Given the description of an element on the screen output the (x, y) to click on. 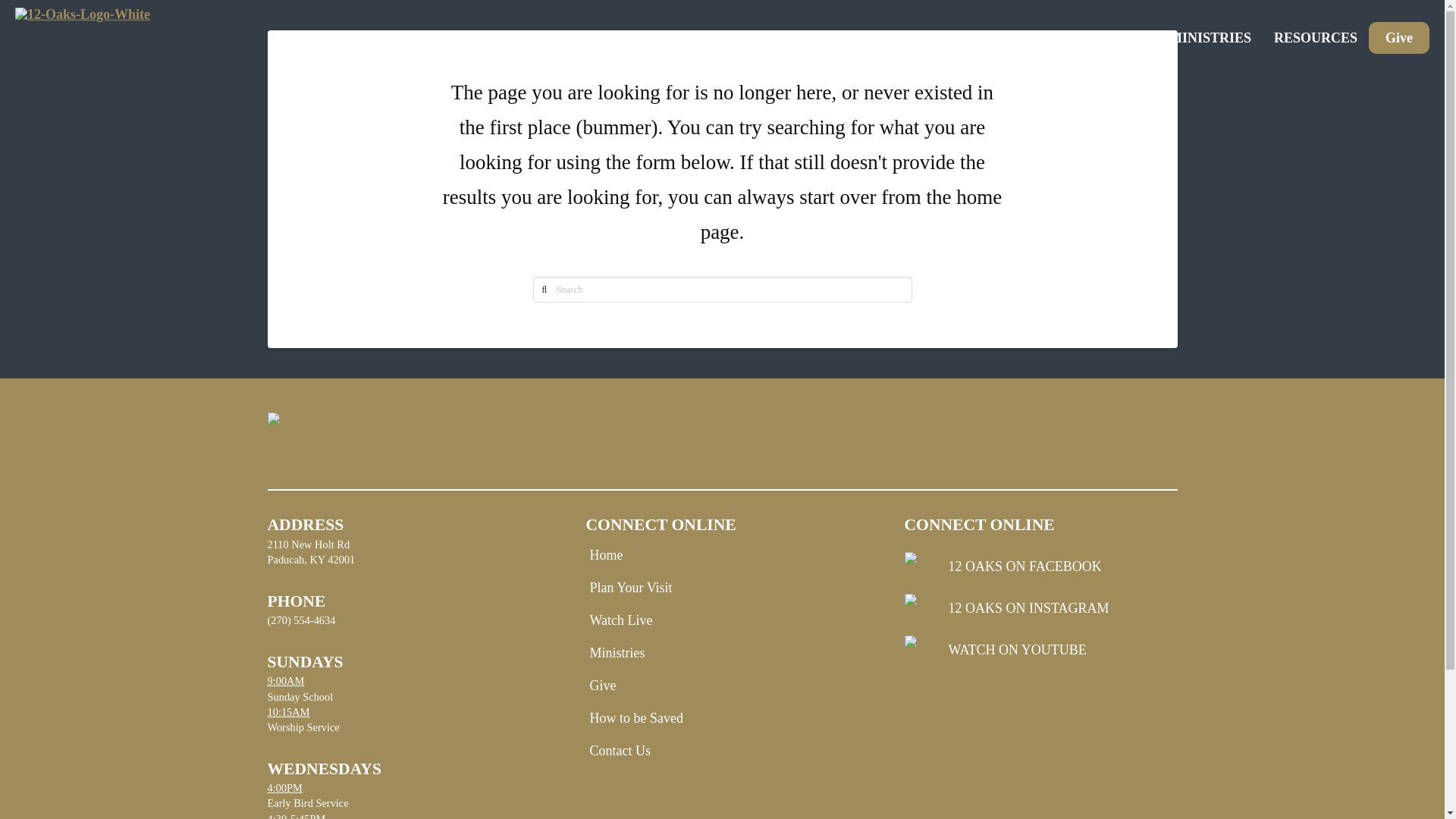
Home Element type: text (609, 554)
Ministries Element type: text (620, 652)
12 OAKS ON FACEBOOK Element type: text (1039, 567)
MINISTRIES Element type: text (1209, 37)
Give Element type: text (1398, 37)
Plan Your Visit Element type: text (634, 587)
12 OAKS ON INSTAGRAM Element type: text (1039, 608)
WEEKLY GATHERINGS Element type: text (997, 37)
HOME Element type: text (876, 37)
How to be Saved Element type: text (639, 717)
Watch Live Element type: text (624, 619)
Give Element type: text (606, 685)
RESOURCES Element type: text (1315, 37)
WATCH ON YOUTUBE Element type: text (1039, 650)
Contact Us Element type: text (623, 750)
ABOUT Element type: text (1121, 37)
